Given the description of an element on the screen output the (x, y) to click on. 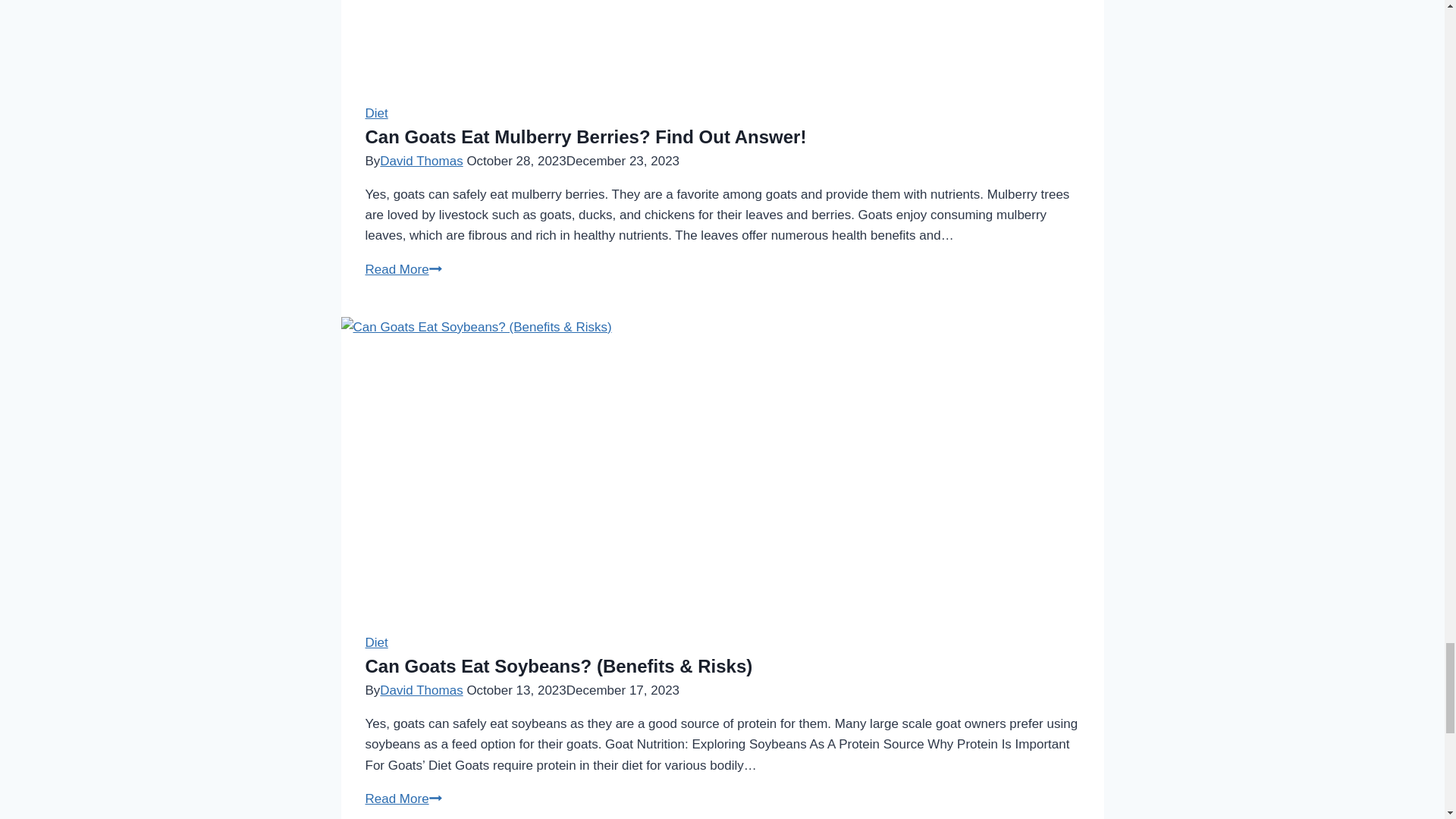
David Thomas (421, 160)
Can Goats Eat Mulberry Berries? Find Out Answer! (585, 136)
Diet (403, 269)
Diet (376, 113)
